Given the description of an element on the screen output the (x, y) to click on. 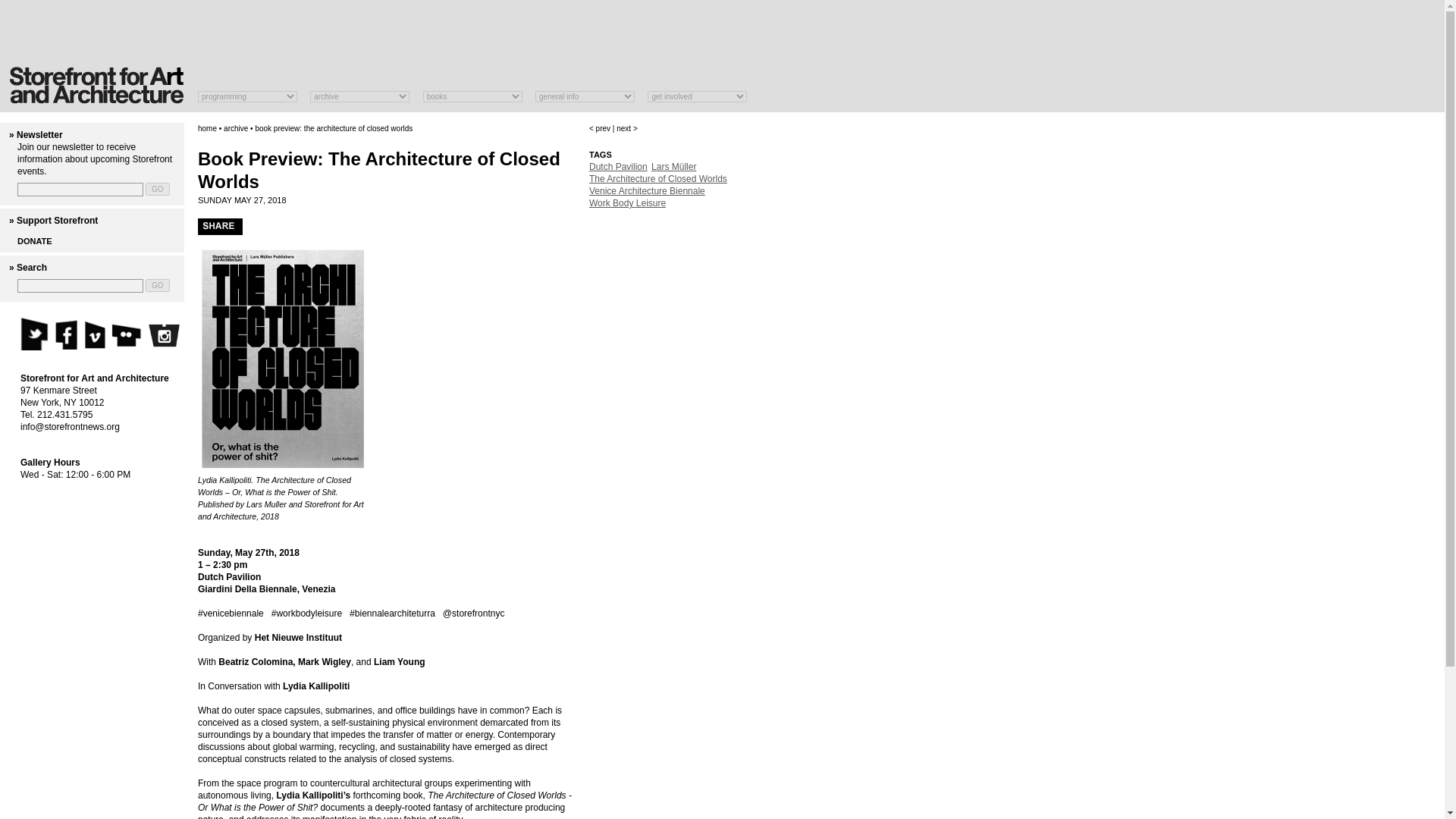
DONATE (34, 240)
The Architecture of Closed Worlds (657, 178)
Venice Architecture Biennale (646, 190)
GO (157, 188)
home (207, 128)
archive (235, 128)
Follow us on Twitter (33, 333)
GO (157, 188)
GO (157, 285)
See our Instagram (164, 336)
Work Body Leisure (627, 203)
See our Flickr photostream (128, 333)
GO (157, 285)
Support Storefront (56, 220)
Dutch Pavilion (618, 166)
